Given the description of an element on the screen output the (x, y) to click on. 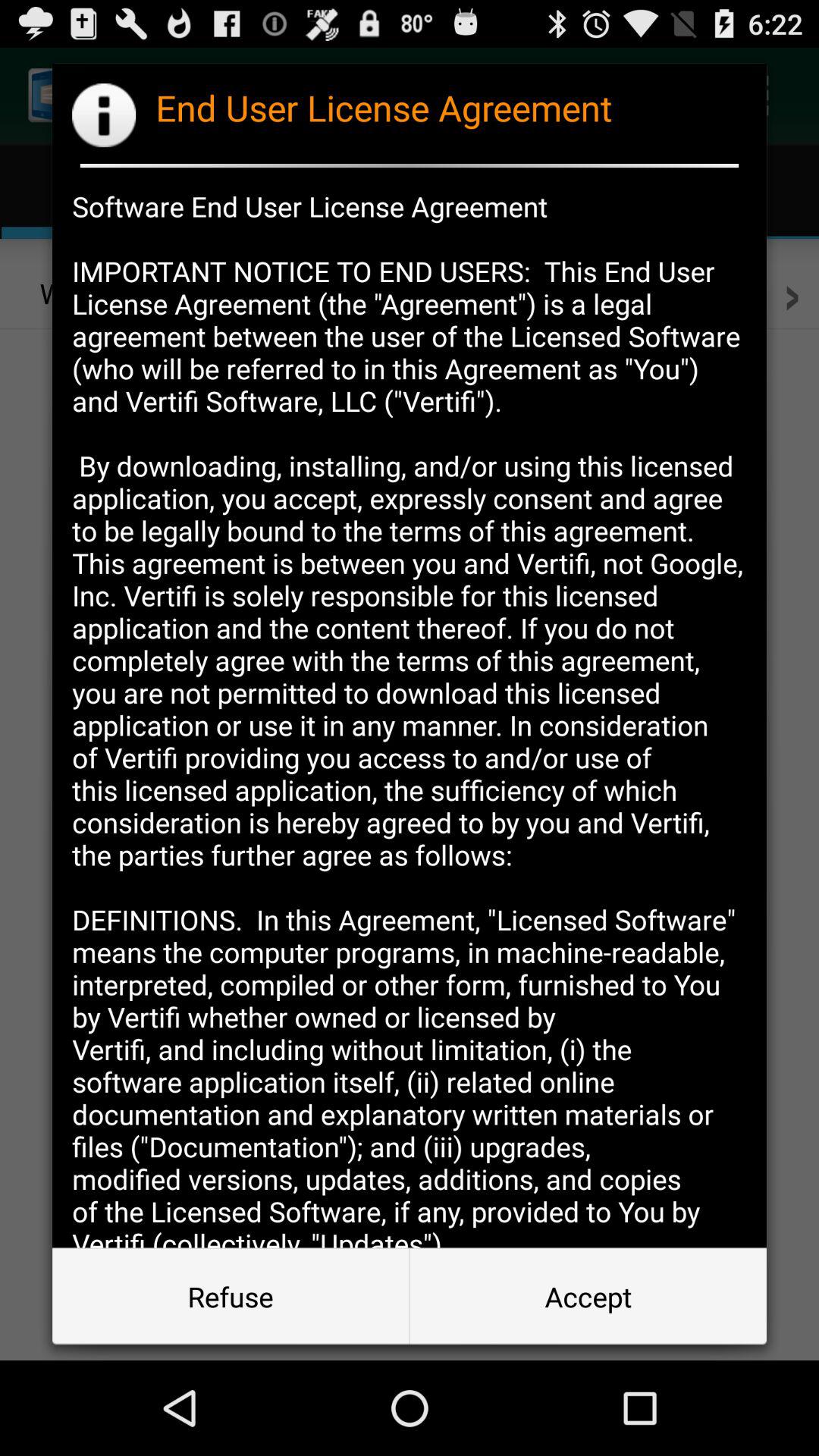
tap accept button (588, 1296)
